Given the description of an element on the screen output the (x, y) to click on. 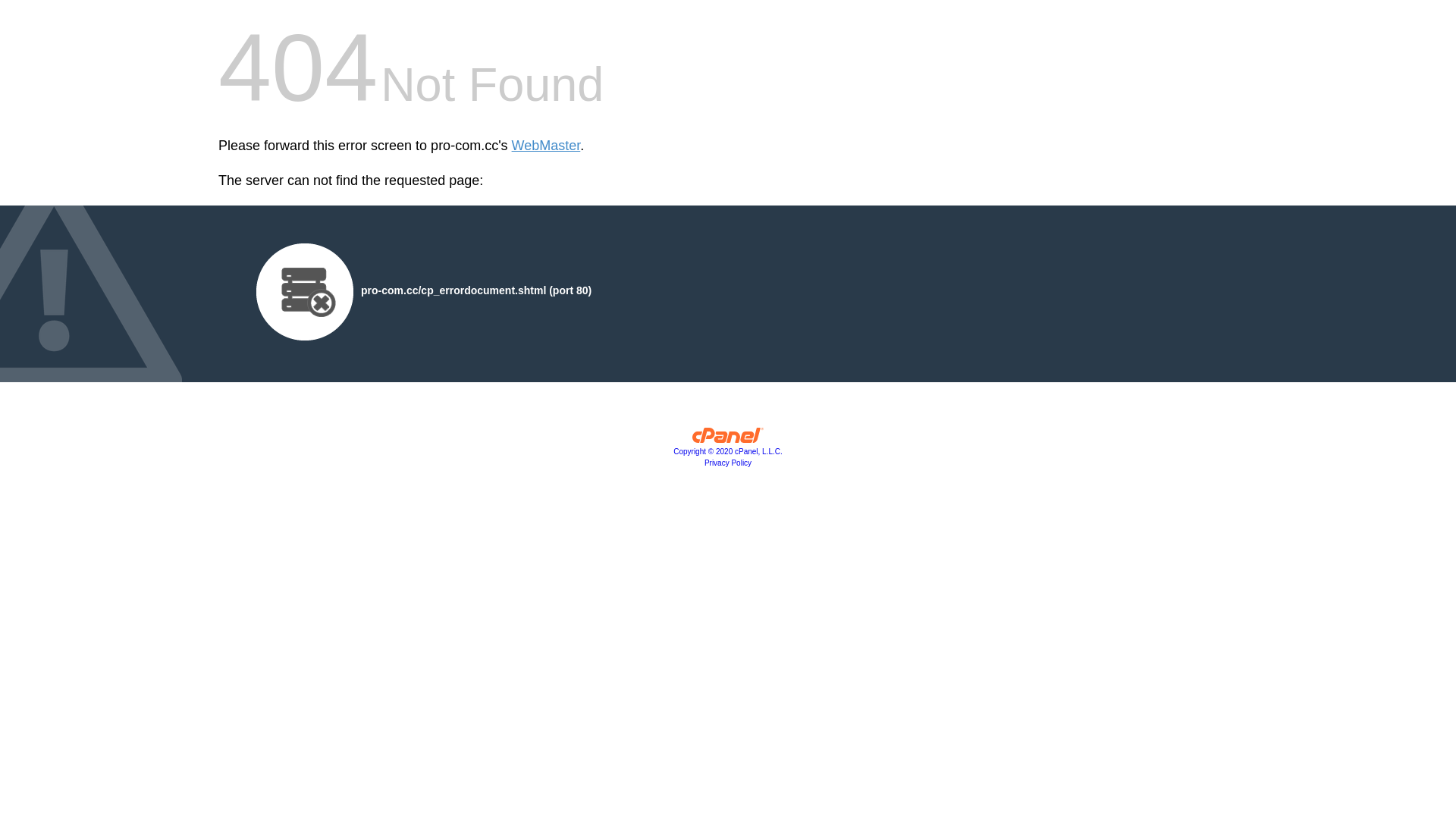
Privacy Policy Element type: text (727, 462)
cPanel, Inc. Element type: hover (728, 439)
WebMaster Element type: text (545, 145)
